Given the description of an element on the screen output the (x, y) to click on. 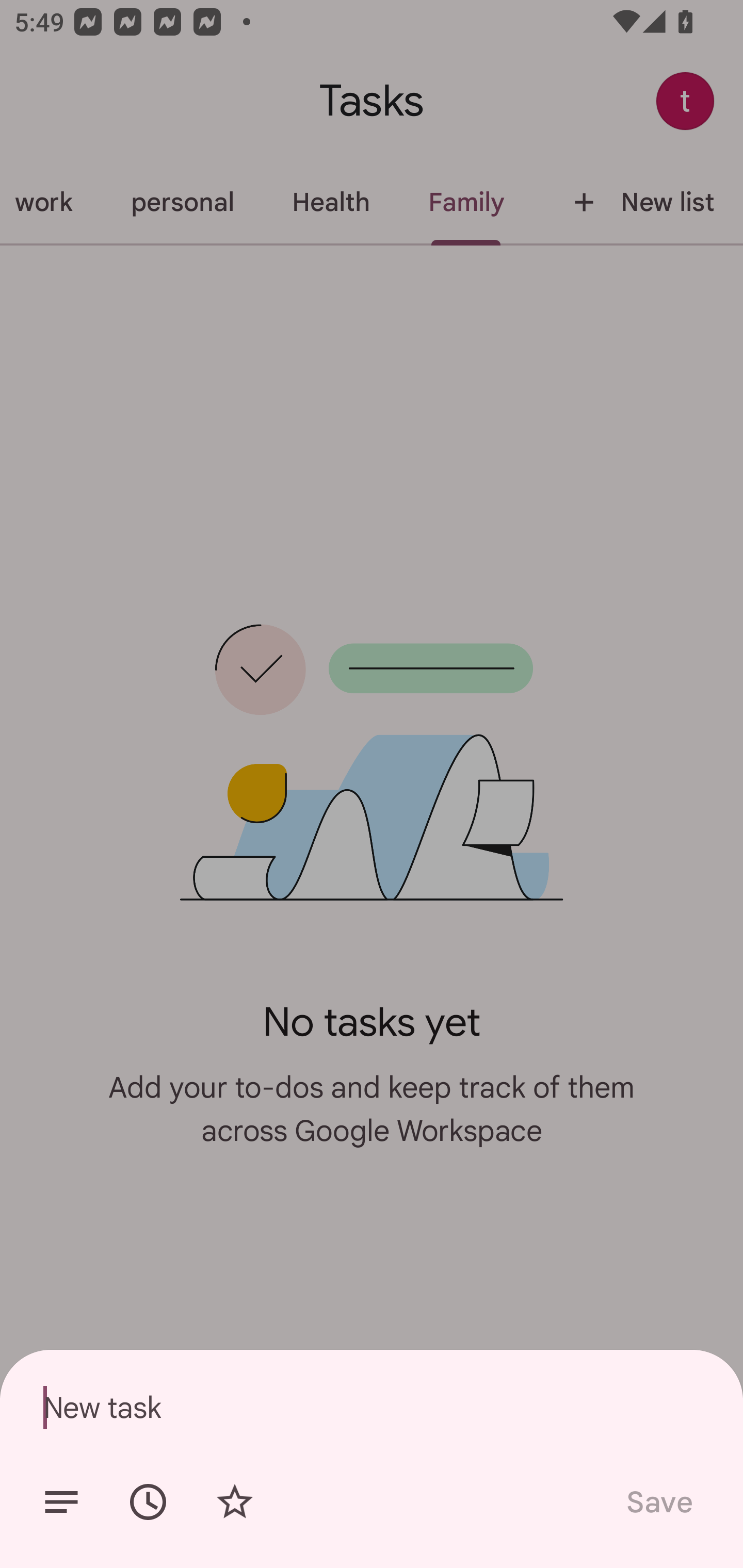
New task (371, 1407)
Save (659, 1501)
Add details (60, 1501)
Set date/time (147, 1501)
Add star (234, 1501)
